Given the description of an element on the screen output the (x, y) to click on. 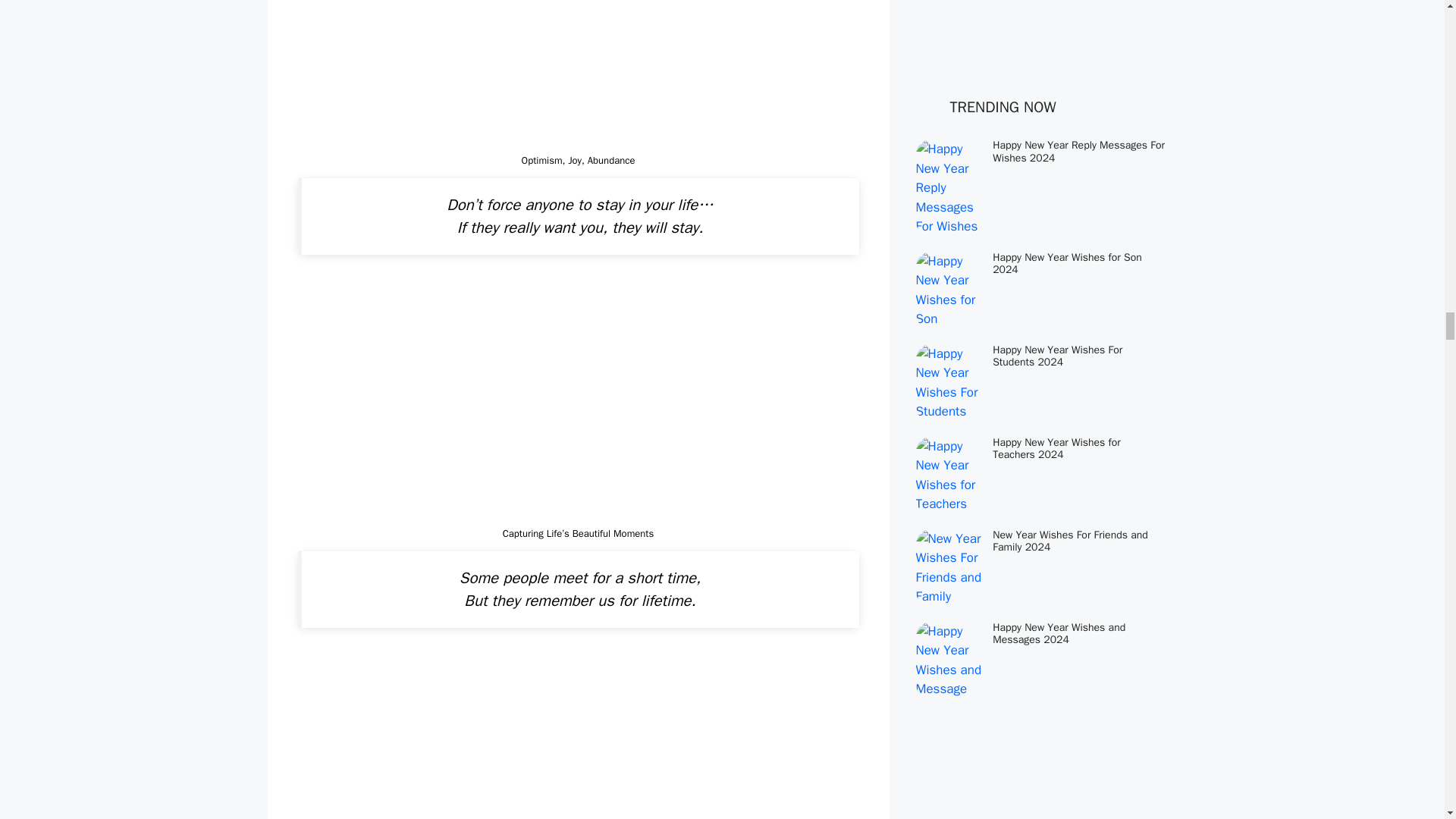
WhatsApp Bio Text with Images (577, 399)
WhatsApp Bio Text with Images (577, 74)
